Given the description of an element on the screen output the (x, y) to click on. 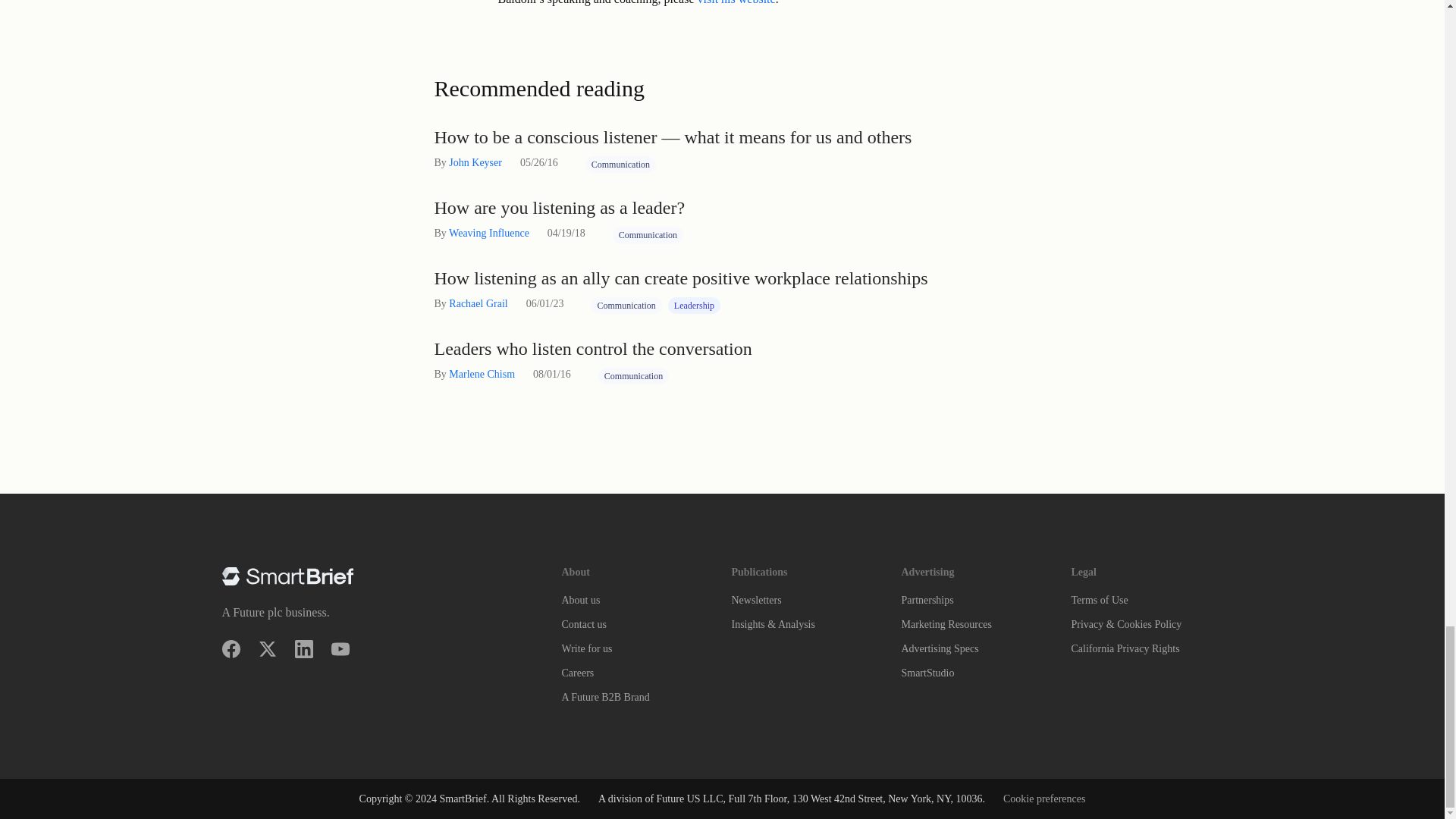
YouTube (339, 648)
Facebook (230, 648)
LinkedIn (303, 648)
